Given the description of an element on the screen output the (x, y) to click on. 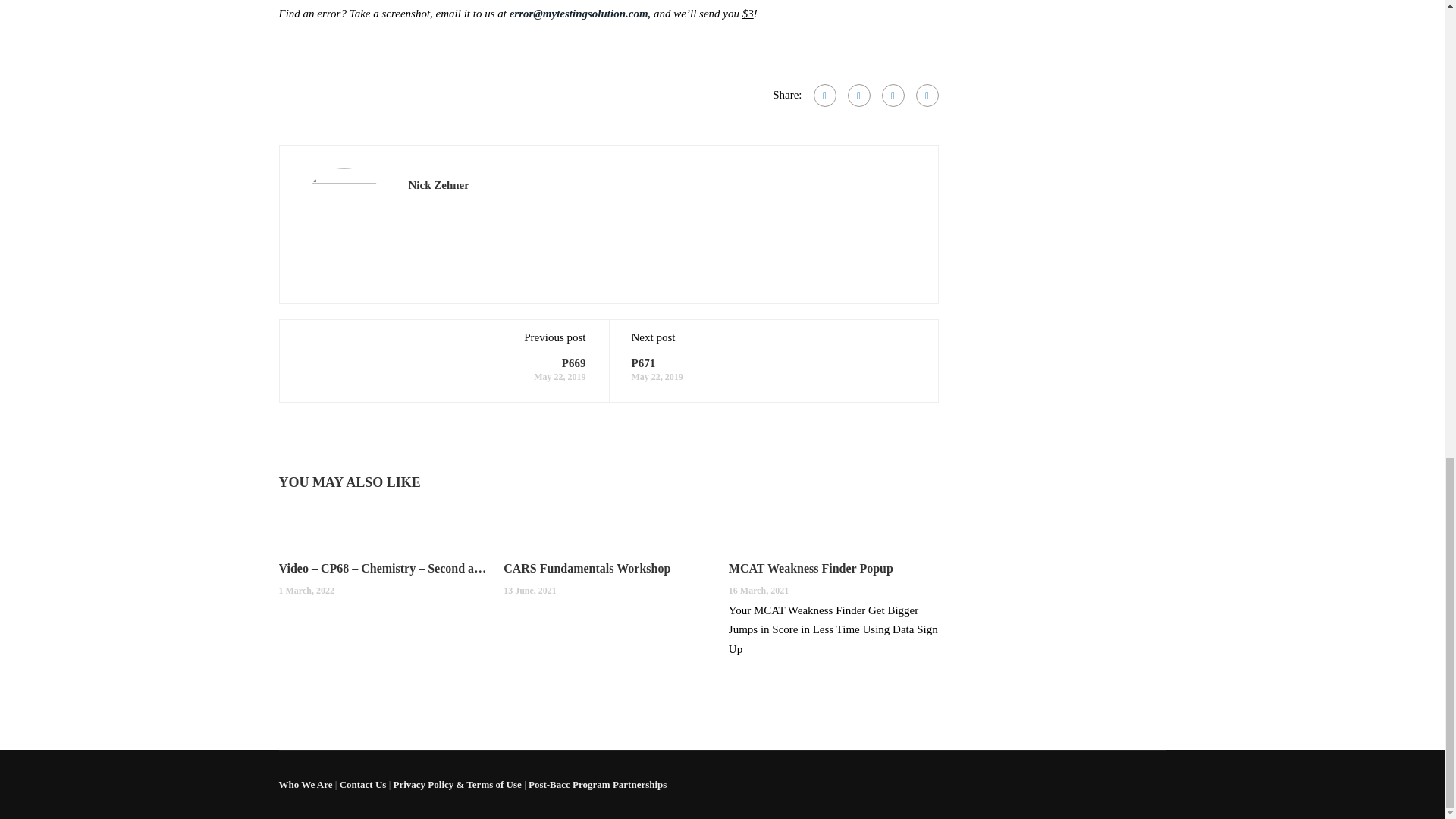
Facebook (823, 95)
MCAT Weakness Finder Popup (834, 568)
P669 (574, 363)
Contact Us (363, 784)
P671 (642, 363)
Pinterest (927, 95)
Post-Bacc Program Partnerships (597, 784)
Twitter (892, 95)
Nick Zehner (437, 184)
CARS Fundamentals Workshop (608, 568)
